Given the description of an element on the screen output the (x, y) to click on. 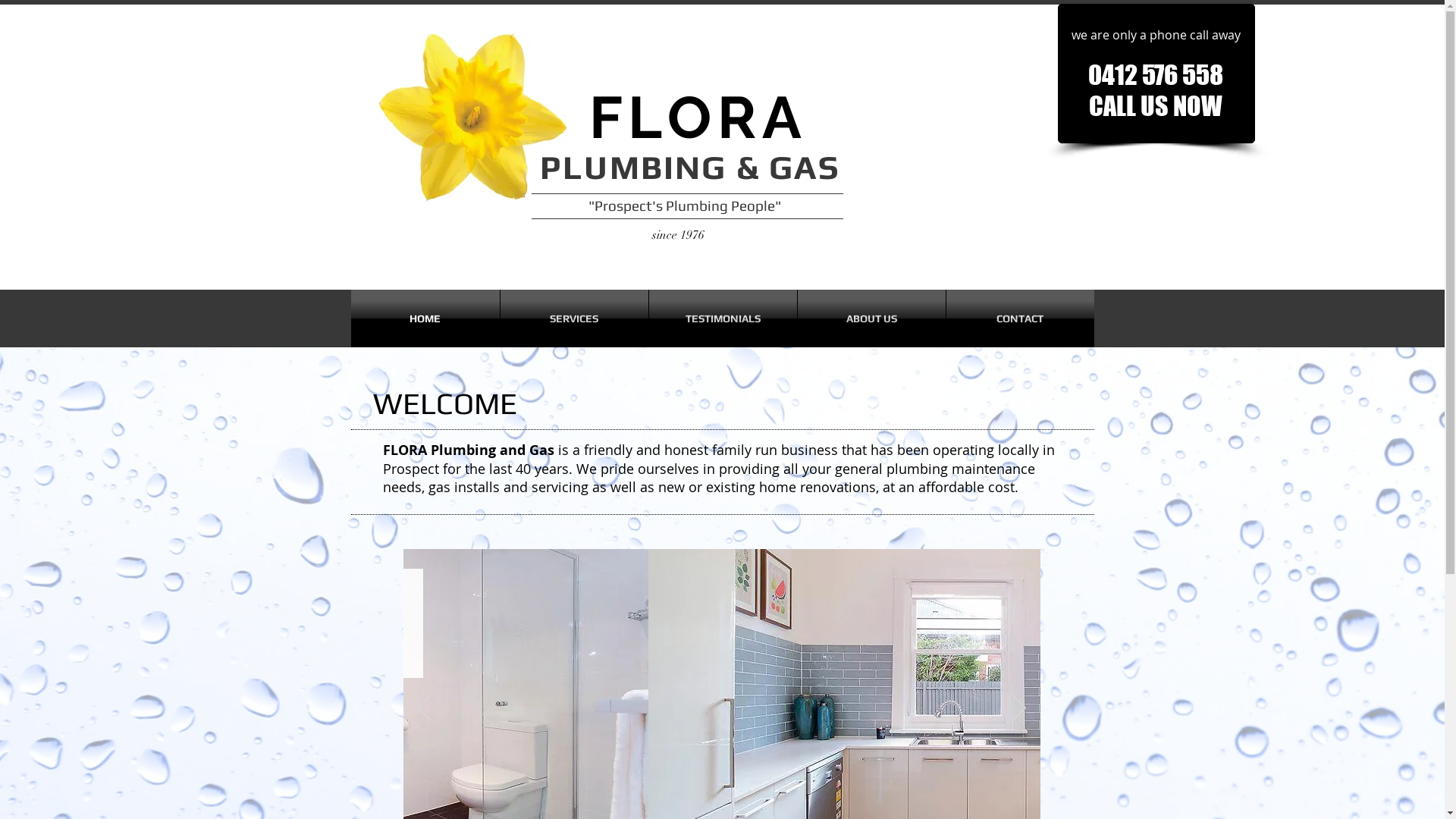
SERVICES Element type: text (574, 318)
ABOUT US Element type: text (871, 318)
TESTIMONIALS Element type: text (723, 318)
  Element type: text (576, 128)
CONTACT Element type: text (1020, 318)
                     "Prospect's Plumbing People" Element type: text (652, 205)
HOME Element type: text (424, 318)
FLORA Element type: text (698, 116)
